Given the description of an element on the screen output the (x, y) to click on. 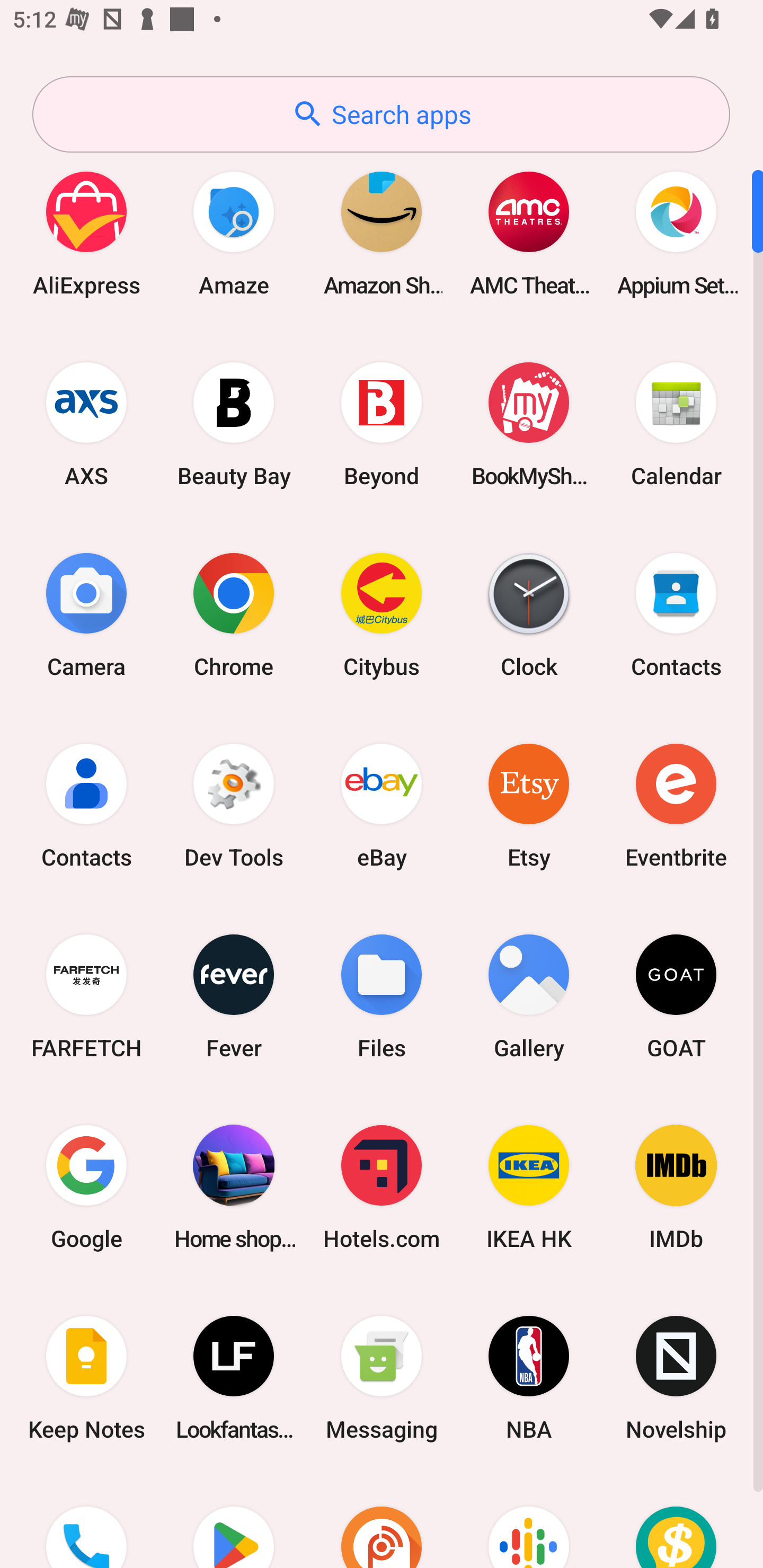
  Search apps (381, 114)
AliExpress (86, 233)
Amaze (233, 233)
Amazon Shopping (381, 233)
AMC Theatres (528, 233)
Appium Settings (676, 233)
AXS (86, 424)
Beauty Bay (233, 424)
Beyond (381, 424)
BookMyShow (528, 424)
Calendar (676, 424)
Camera (86, 614)
Chrome (233, 614)
Citybus (381, 614)
Clock (528, 614)
Contacts (676, 614)
Contacts (86, 805)
Dev Tools (233, 805)
eBay (381, 805)
Etsy (528, 805)
Eventbrite (676, 805)
FARFETCH (86, 996)
Fever (233, 996)
Files (381, 996)
Gallery (528, 996)
GOAT (676, 996)
Google (86, 1186)
Home shopping (233, 1186)
Hotels.com (381, 1186)
IKEA HK (528, 1186)
IMDb (676, 1186)
Keep Notes (86, 1377)
Lookfantastic (233, 1377)
Messaging (381, 1377)
NBA (528, 1377)
Novelship (676, 1377)
Phone (86, 1520)
Play Store (233, 1520)
Podcast Addict (381, 1520)
Podcasts (528, 1520)
Price (676, 1520)
